Given the description of an element on the screen output the (x, y) to click on. 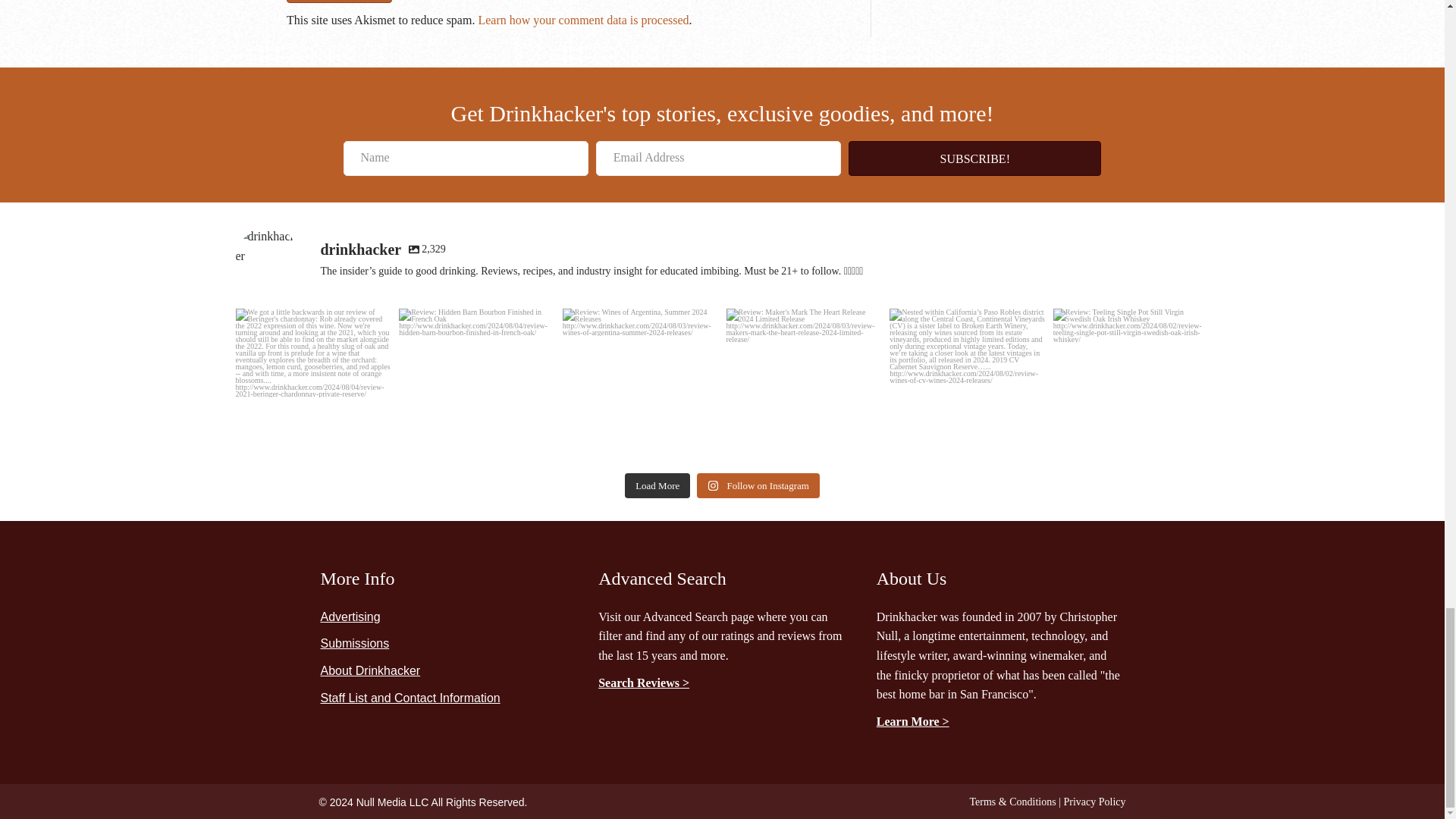
Submit Comment (338, 1)
